Given the description of an element on the screen output the (x, y) to click on. 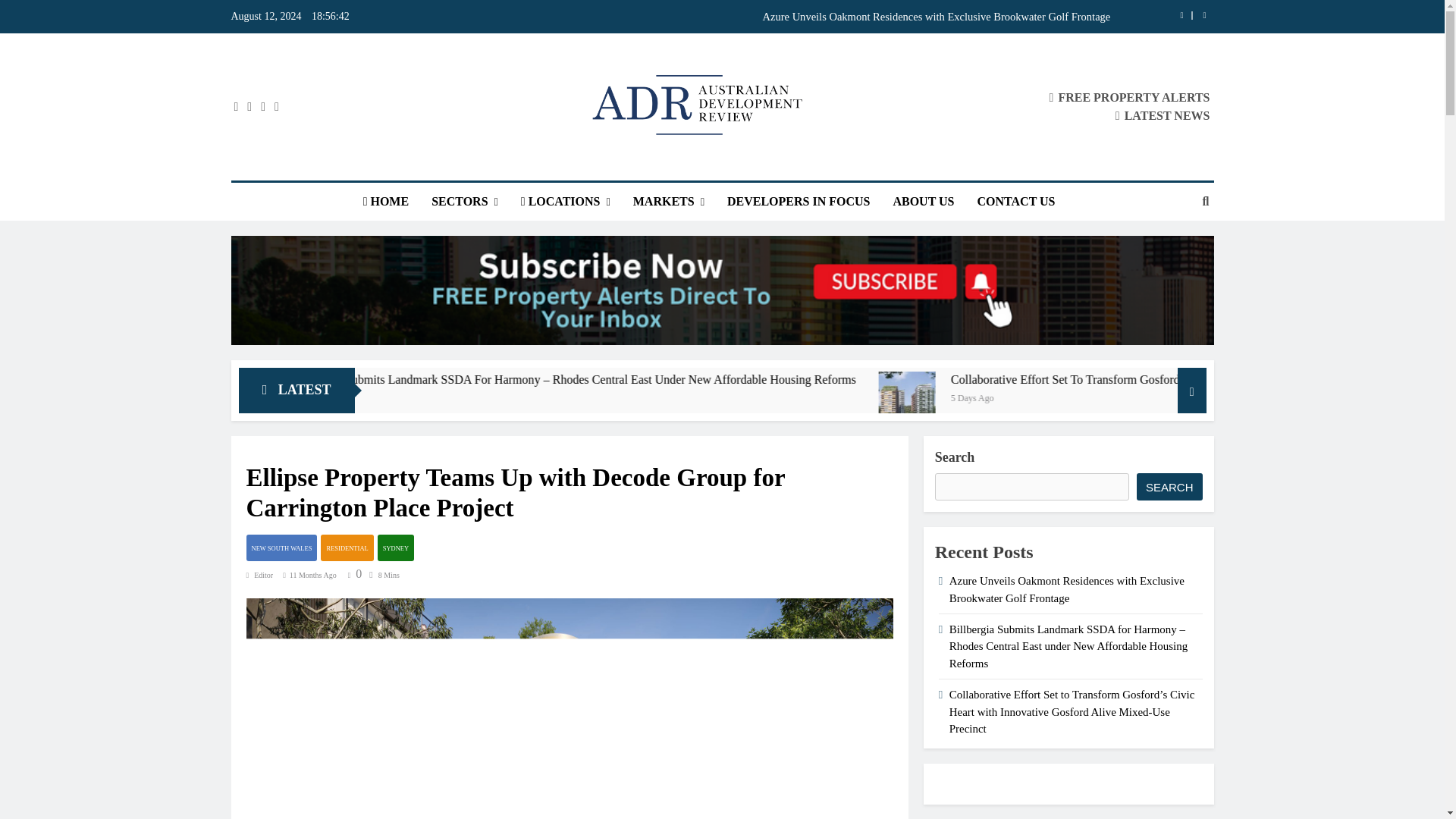
FREE PROPERTY ALERTS (1129, 97)
LOCATIONS (565, 201)
HOME (386, 201)
SECTORS (464, 201)
LATEST NEWS (1162, 115)
Australian Development Review (665, 166)
